Given the description of an element on the screen output the (x, y) to click on. 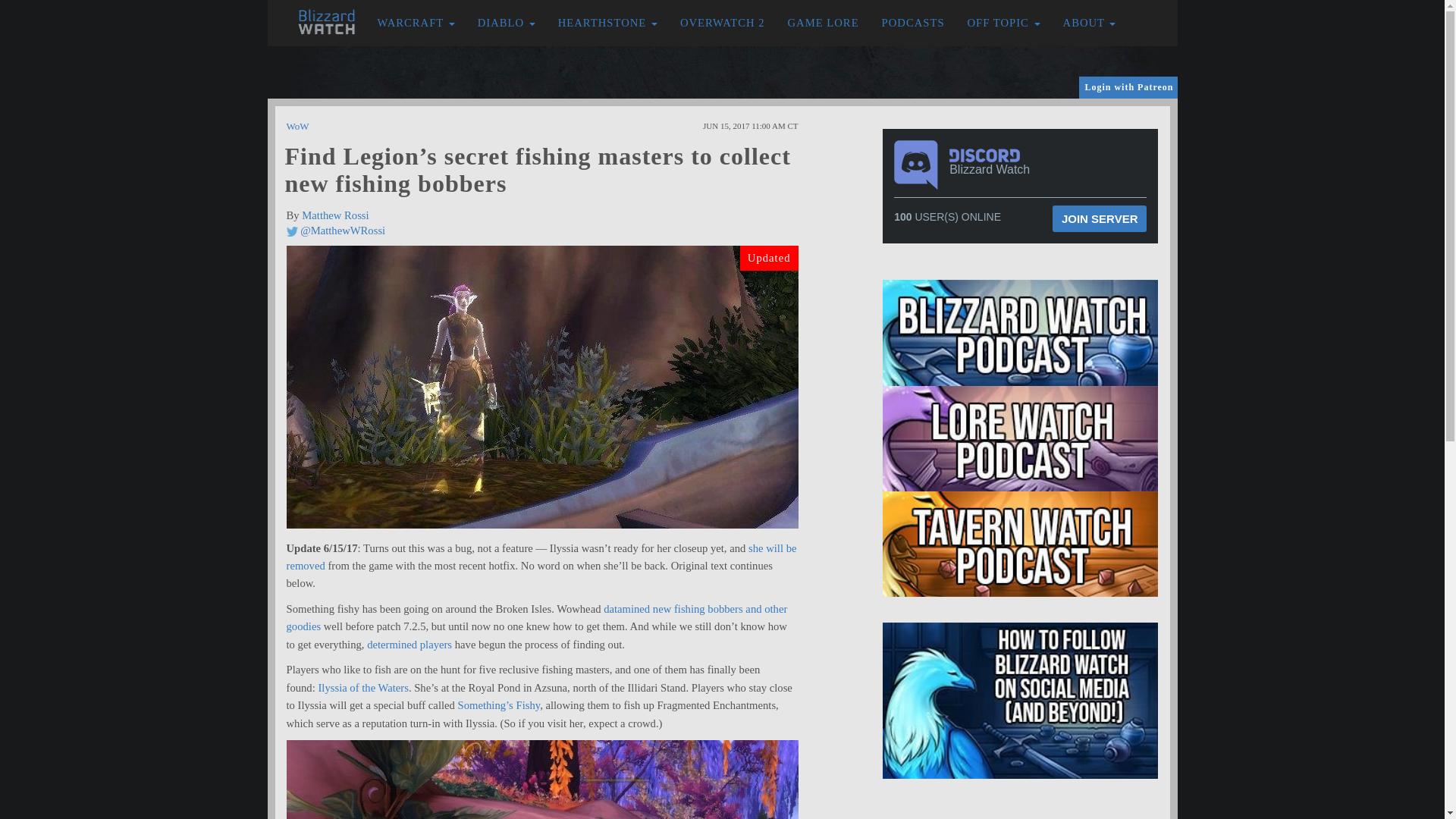
WARCRAFT (415, 22)
Warcraft (415, 22)
Diablo (506, 22)
Podcasts (913, 22)
HEARTHSTONE (607, 22)
Login with Patreon (1128, 86)
Game Lore (823, 22)
Hearthstone (607, 22)
ABOUT (1088, 22)
OFF TOPIC (1003, 22)
